Given the description of an element on the screen output the (x, y) to click on. 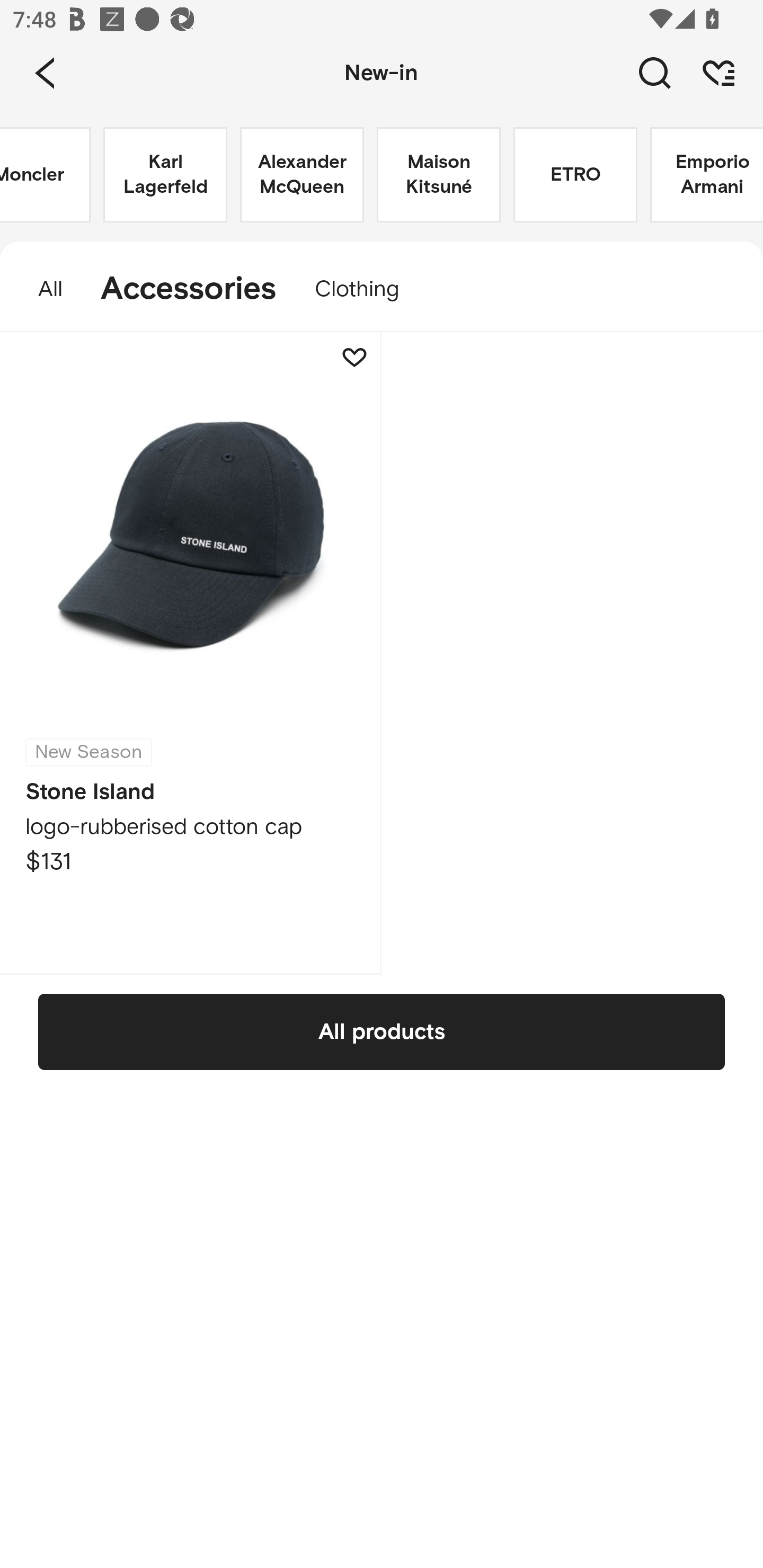
Moncler (45, 174)
Karl Lagerfeld (165, 174)
Alexander McQueen (301, 174)
Maison Kitsuné (438, 174)
ETRO (575, 174)
Emporio Armani (706, 174)
All (40, 288)
Accessories (188, 288)
Clothing (366, 288)
All products (381, 1031)
